Given the description of an element on the screen output the (x, y) to click on. 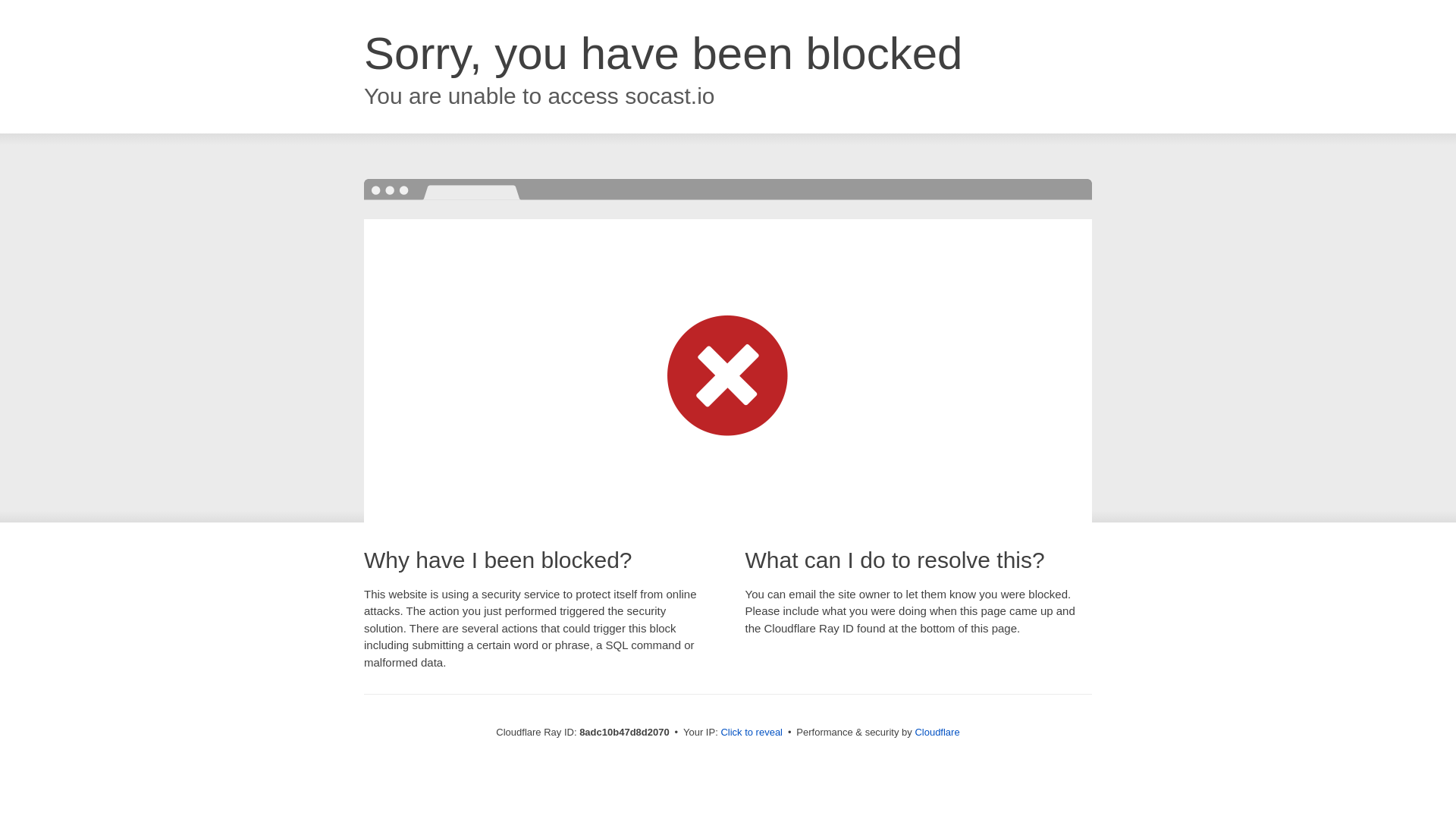
Click to reveal (751, 732)
Cloudflare (936, 731)
